Given the description of an element on the screen output the (x, y) to click on. 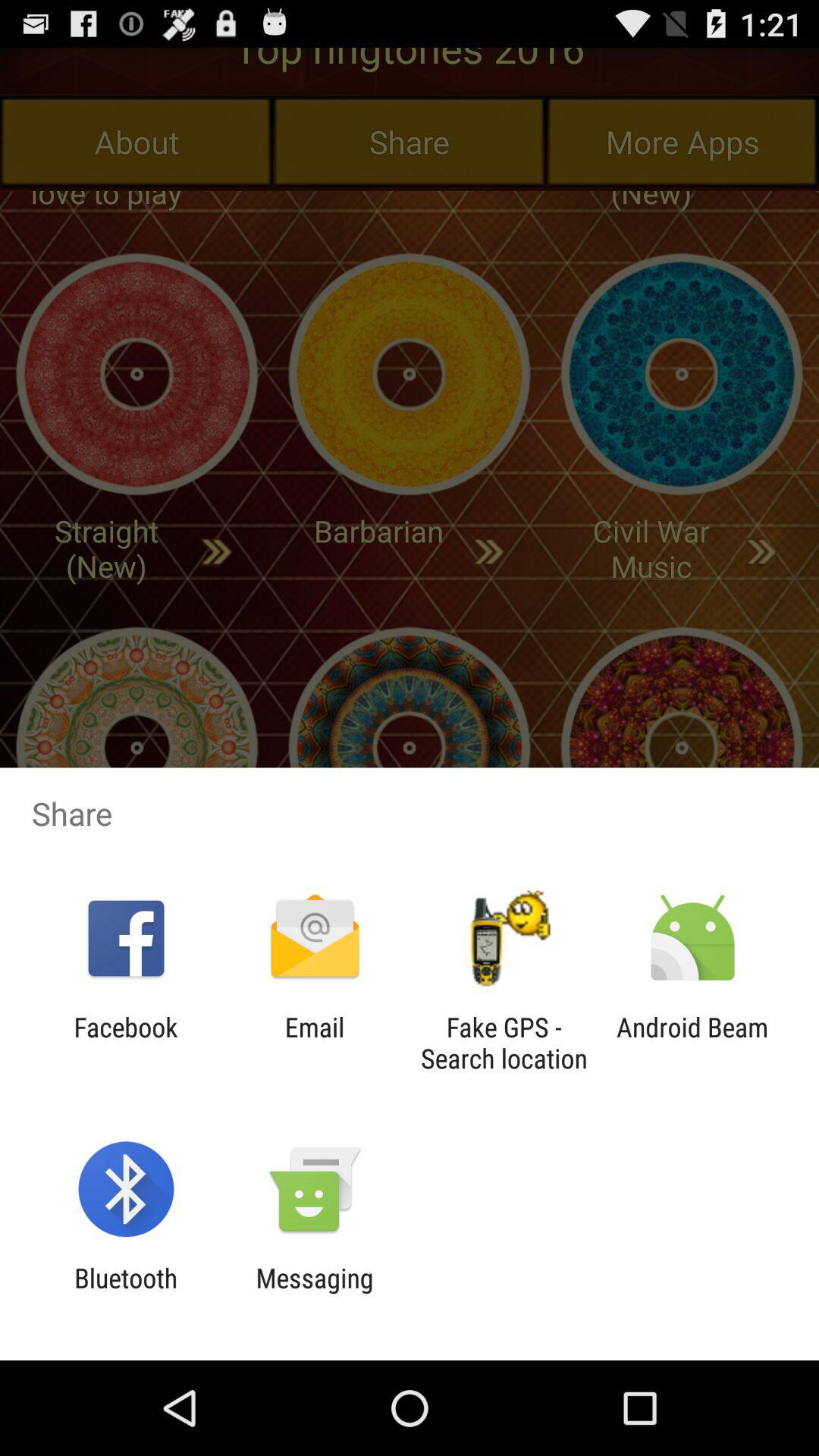
select messaging icon (314, 1293)
